Given the description of an element on the screen output the (x, y) to click on. 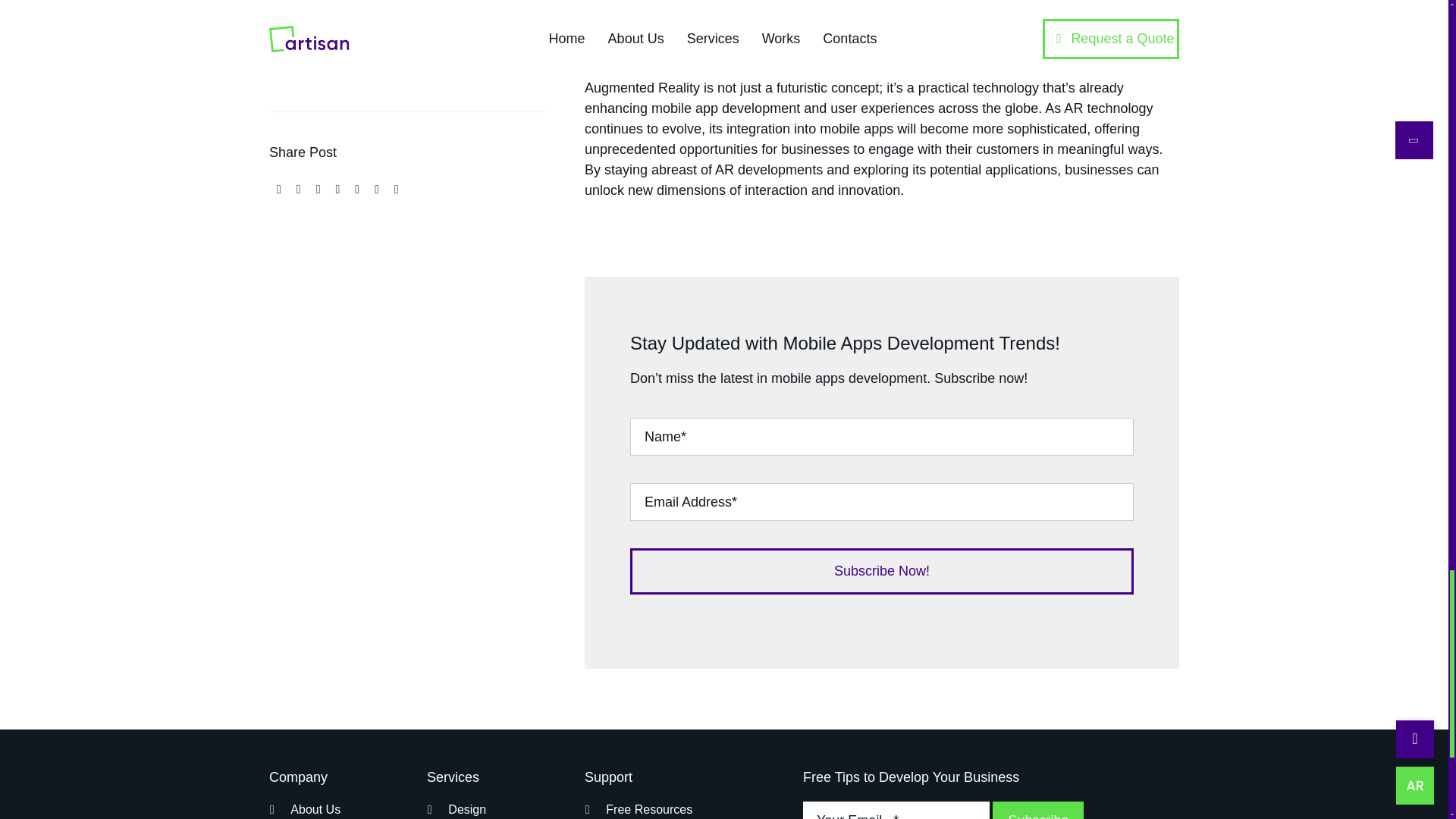
Subscribe Now! (882, 513)
Subscribe (946, 803)
